Given the description of an element on the screen output the (x, y) to click on. 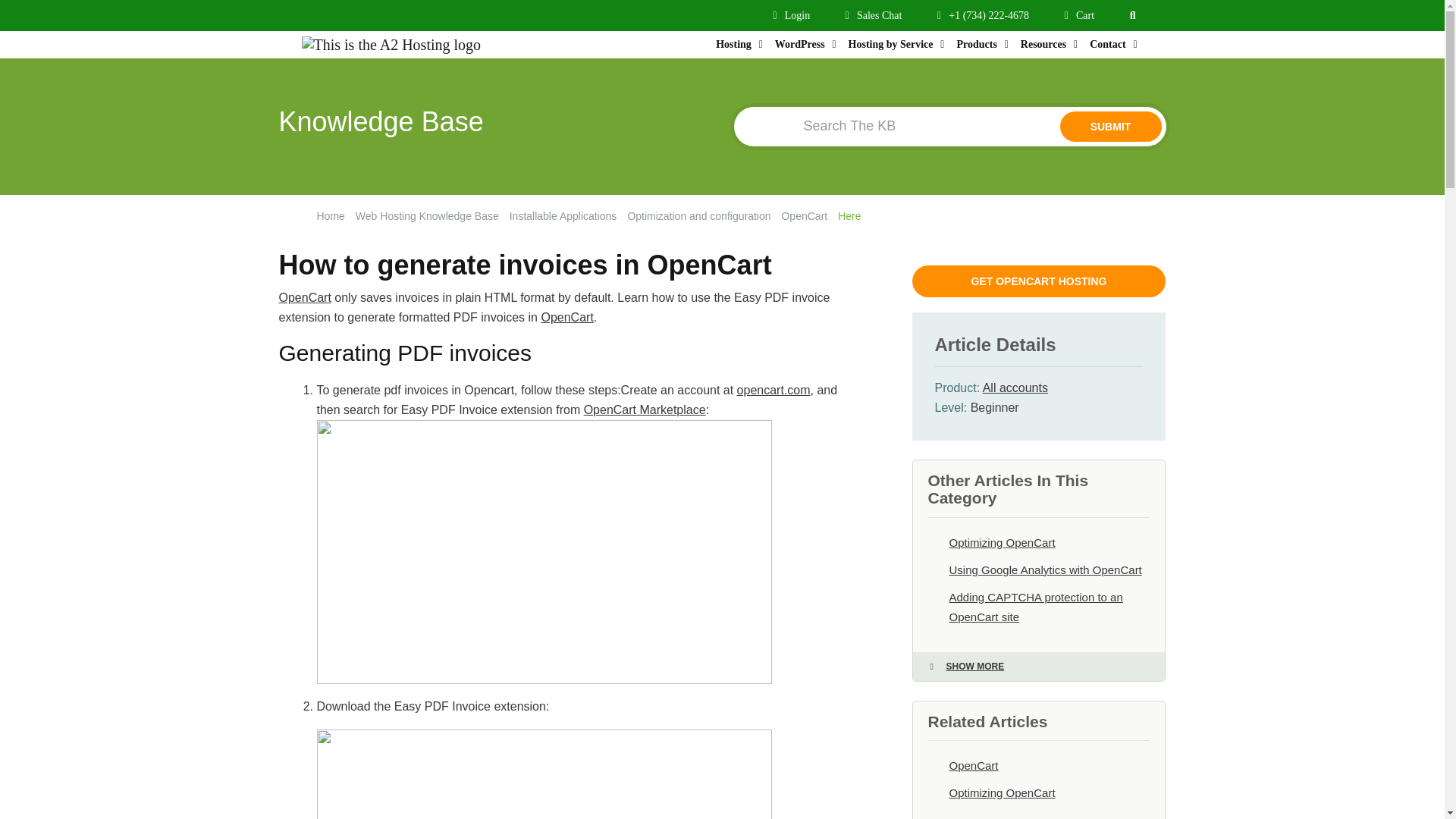
Chat (873, 15)
Cart (1079, 15)
Submit (1110, 126)
My Cart (1079, 15)
Login (791, 15)
Login (791, 15)
Sales Chat (873, 15)
Submit (1110, 126)
